Given the description of an element on the screen output the (x, y) to click on. 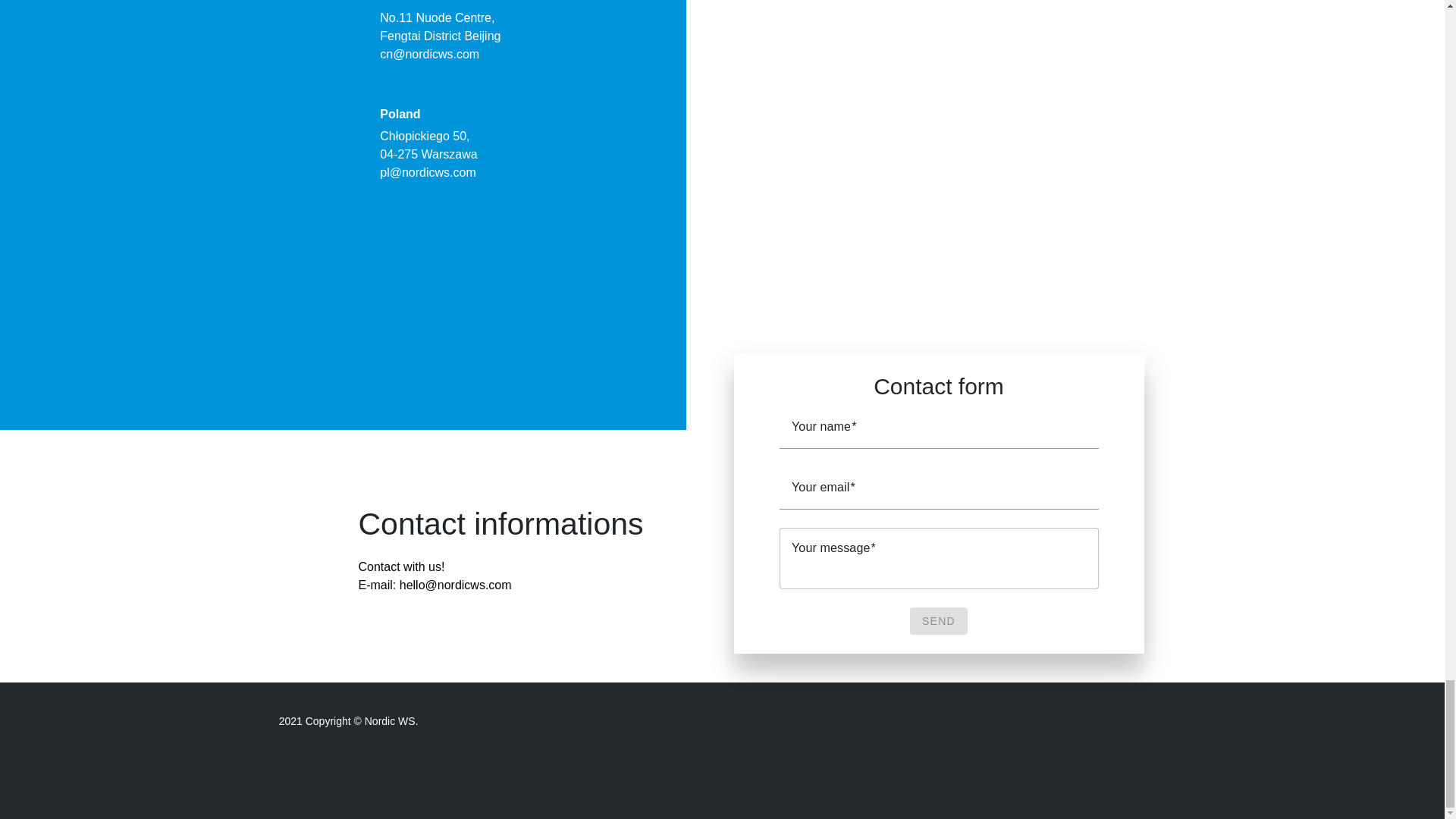
SEND (939, 620)
